Given the description of an element on the screen output the (x, y) to click on. 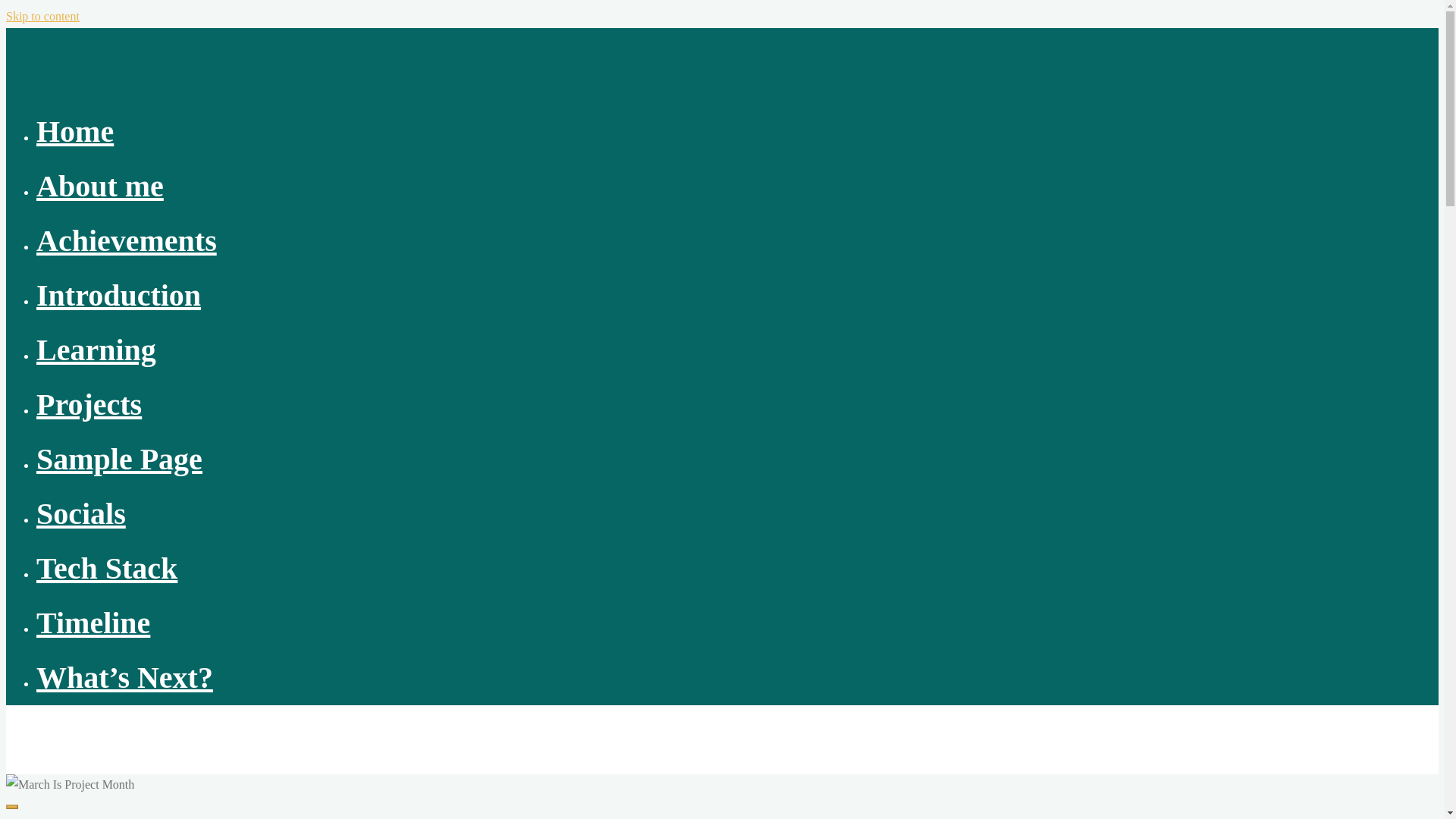
Learning (95, 349)
About me (99, 185)
Introduction (118, 295)
Skip to content (42, 15)
Socials (80, 513)
Just another front-end software engineer (57, 731)
Home (74, 131)
Achievements (126, 240)
Tech Stack (106, 568)
Timeline (92, 622)
